Given the description of an element on the screen output the (x, y) to click on. 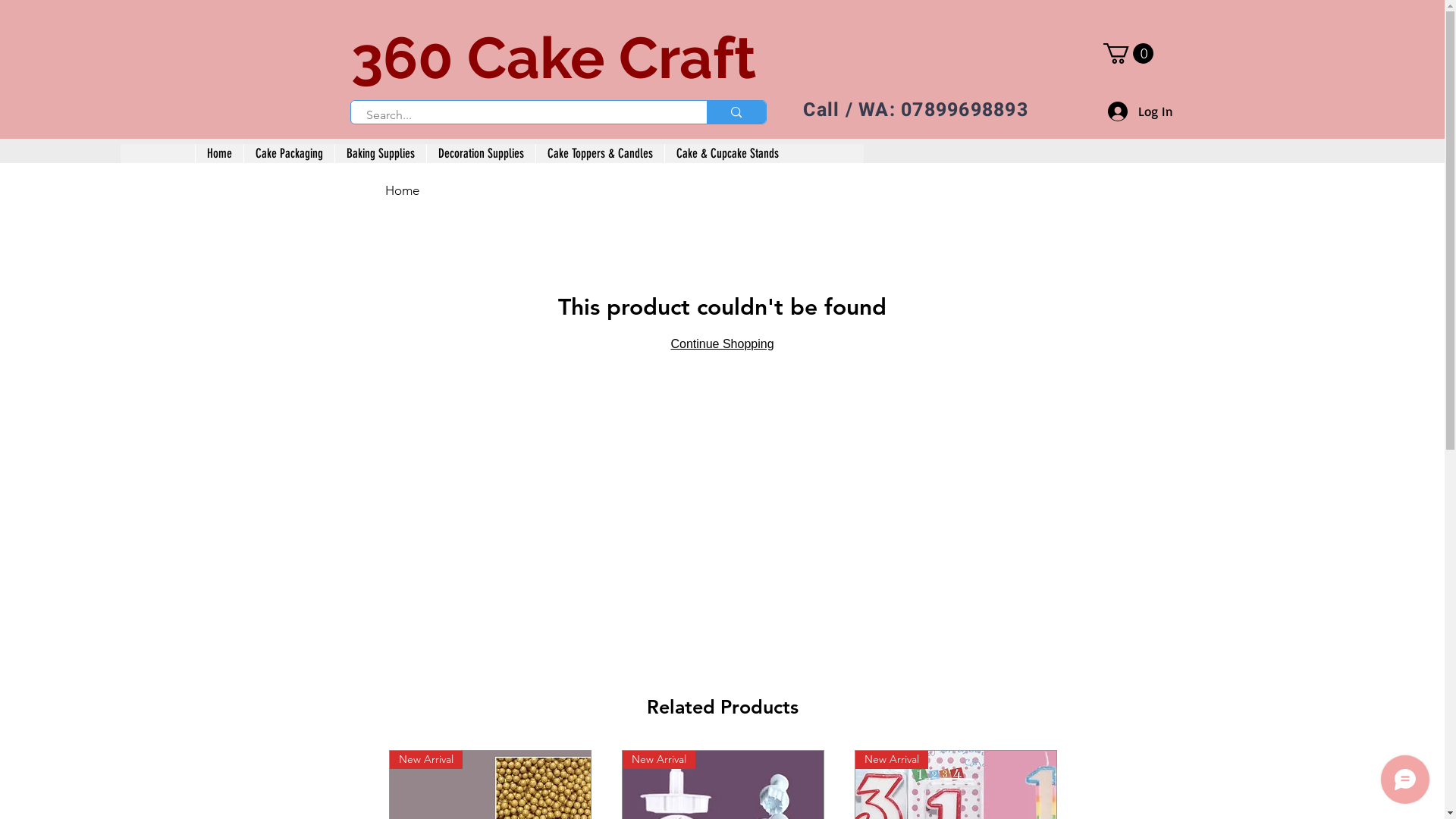
Log In Element type: text (1139, 111)
Cake Packaging Element type: text (287, 153)
Cake Toppers & Candles Element type: text (599, 153)
Call / WA: 07899698893 Element type: text (915, 110)
360 Cake Craft Element type: text (552, 57)
Decoration Supplies Element type: text (480, 153)
Cake & Cupcake Stands Element type: text (727, 153)
0 Element type: text (1127, 53)
Home Element type: text (218, 153)
Baking Supplies Element type: text (379, 153)
Continue Shopping Element type: text (721, 343)
Home Element type: text (402, 189)
